Given the description of an element on the screen output the (x, y) to click on. 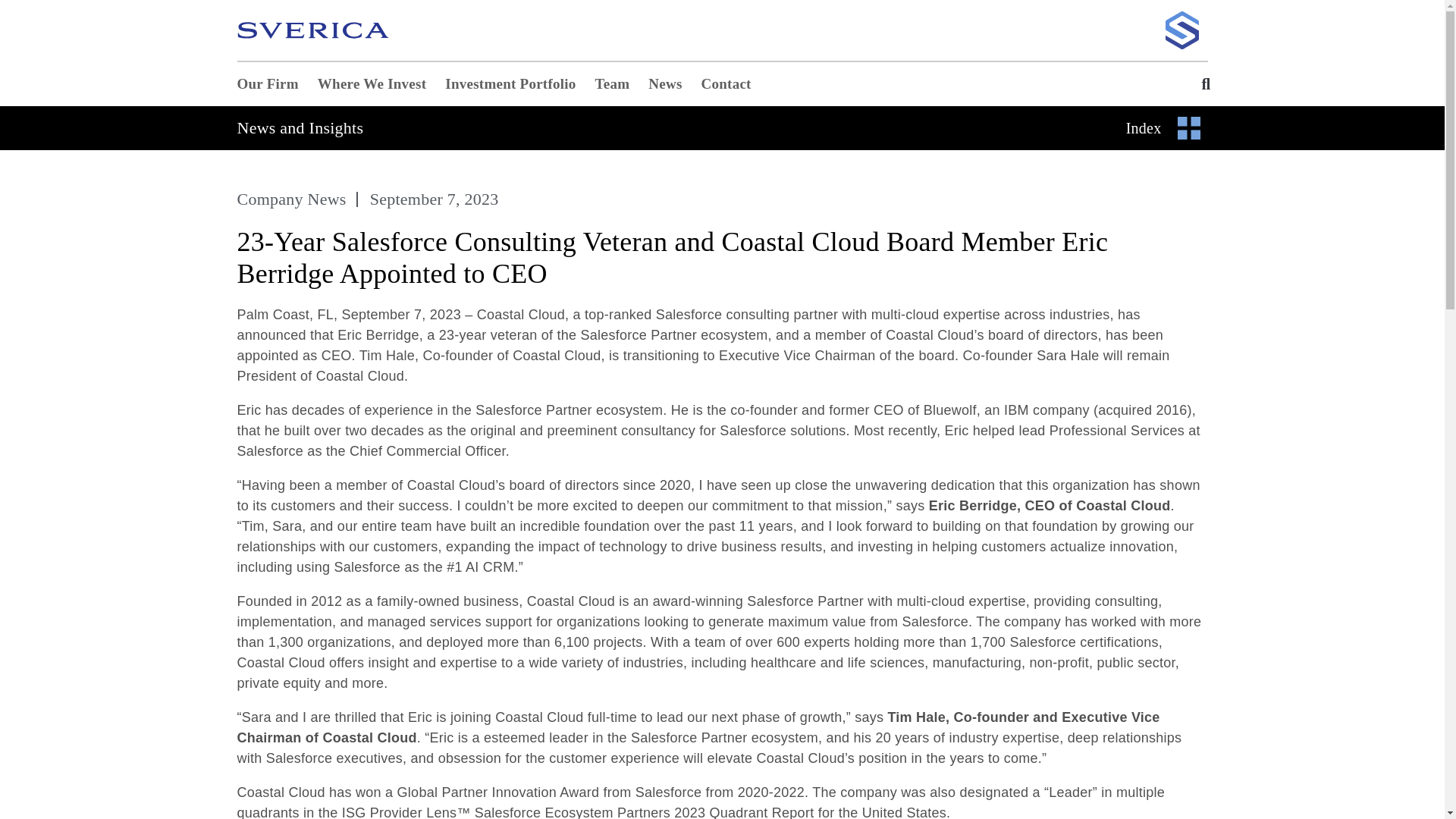
News (664, 84)
Where We Invest (371, 84)
Our Firm (266, 84)
Team (612, 84)
Investment Portfolio (510, 84)
Contact (726, 84)
